Given the description of an element on the screen output the (x, y) to click on. 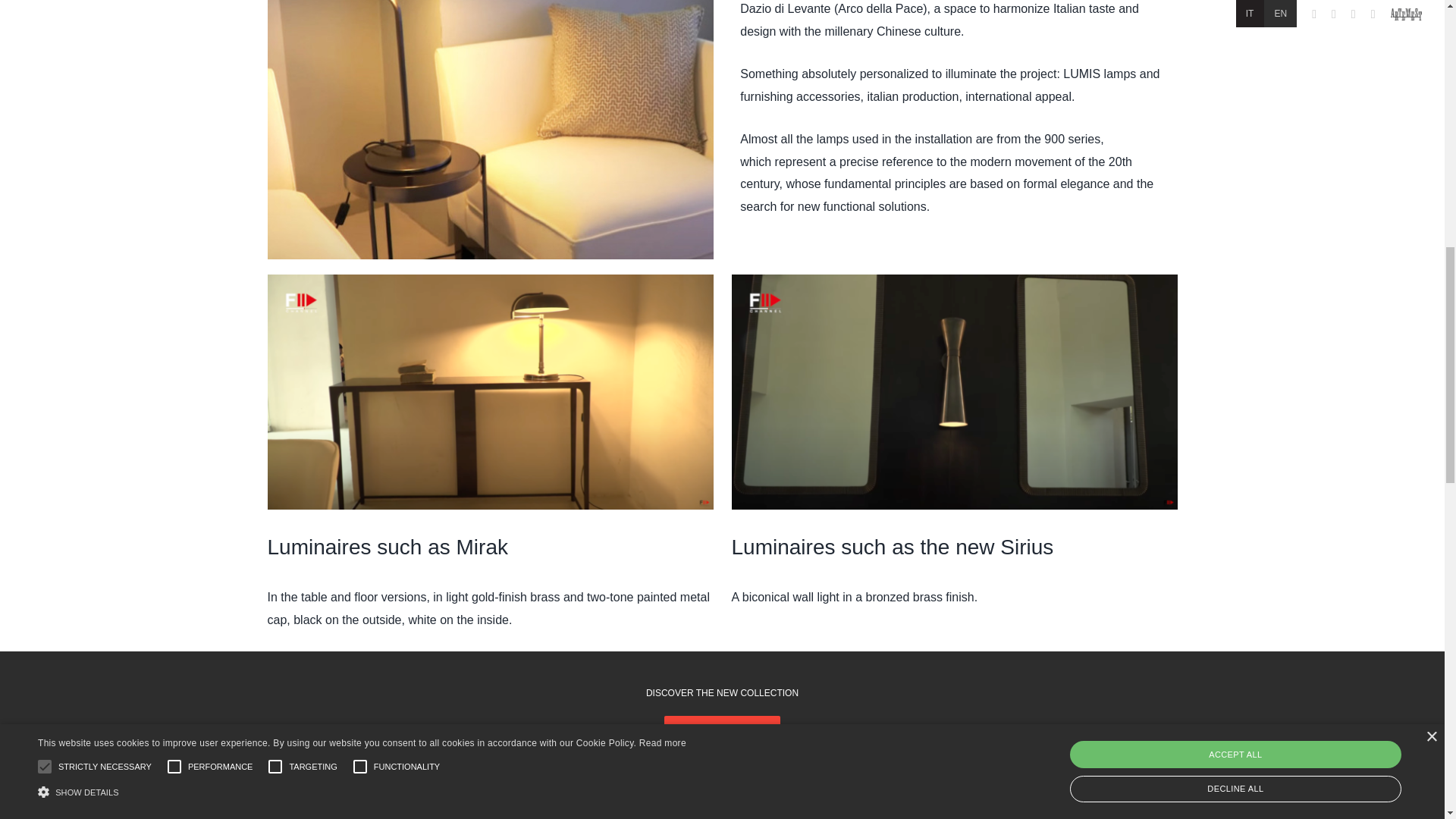
Mirak AT0056 MDW 2023 cut (489, 129)
Schermata 2023-05-10 alle 16.31.08 (489, 392)
Schermata 2023-05-10 alle 16.32.06 (953, 392)
